Given the description of an element on the screen output the (x, y) to click on. 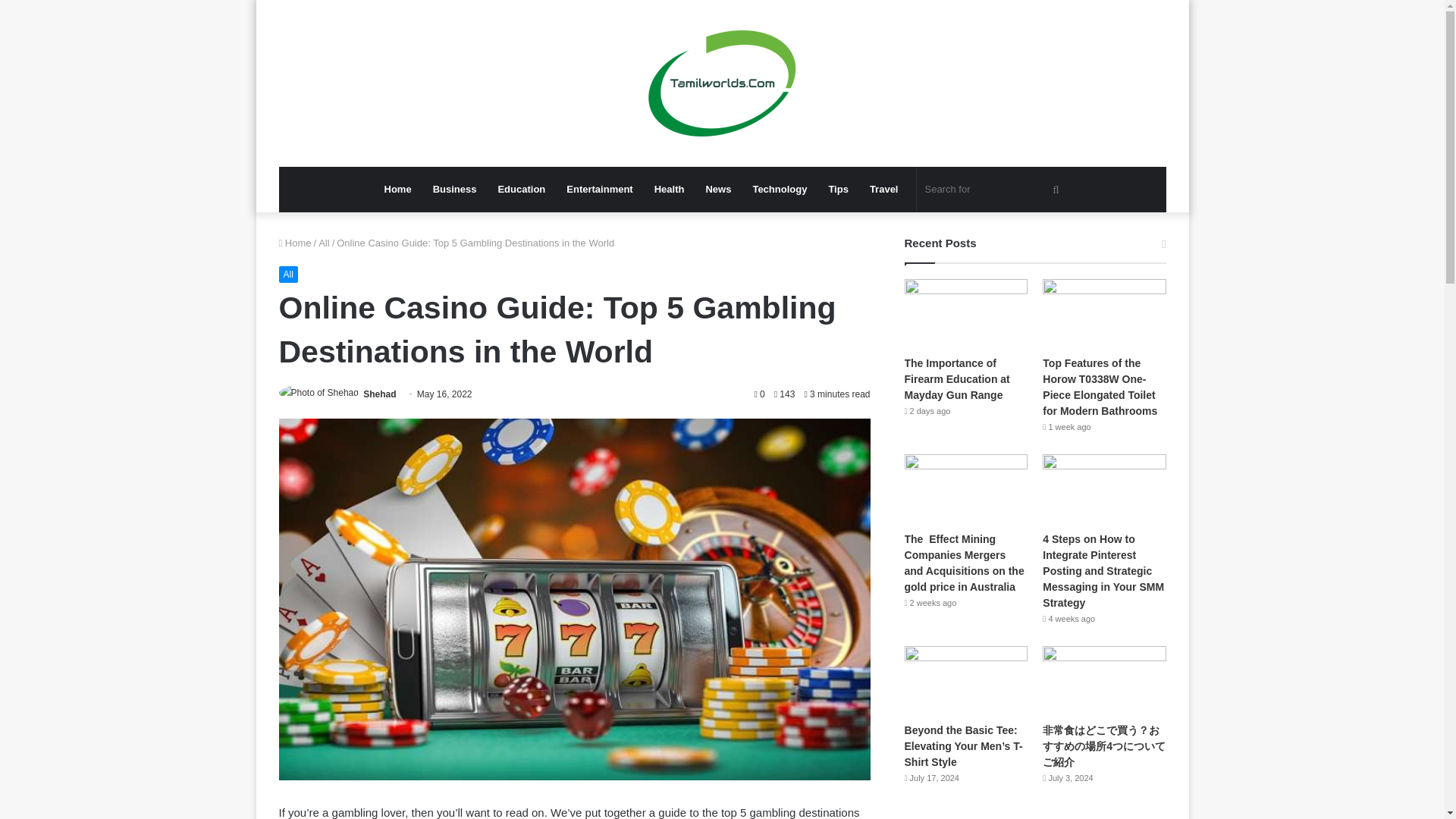
News (717, 189)
Health (669, 189)
Business (454, 189)
Tips (837, 189)
Shehad (379, 394)
Home (295, 242)
Tamil Worlds (721, 83)
Technology (778, 189)
Education (521, 189)
Search for (993, 189)
